Given the description of an element on the screen output the (x, y) to click on. 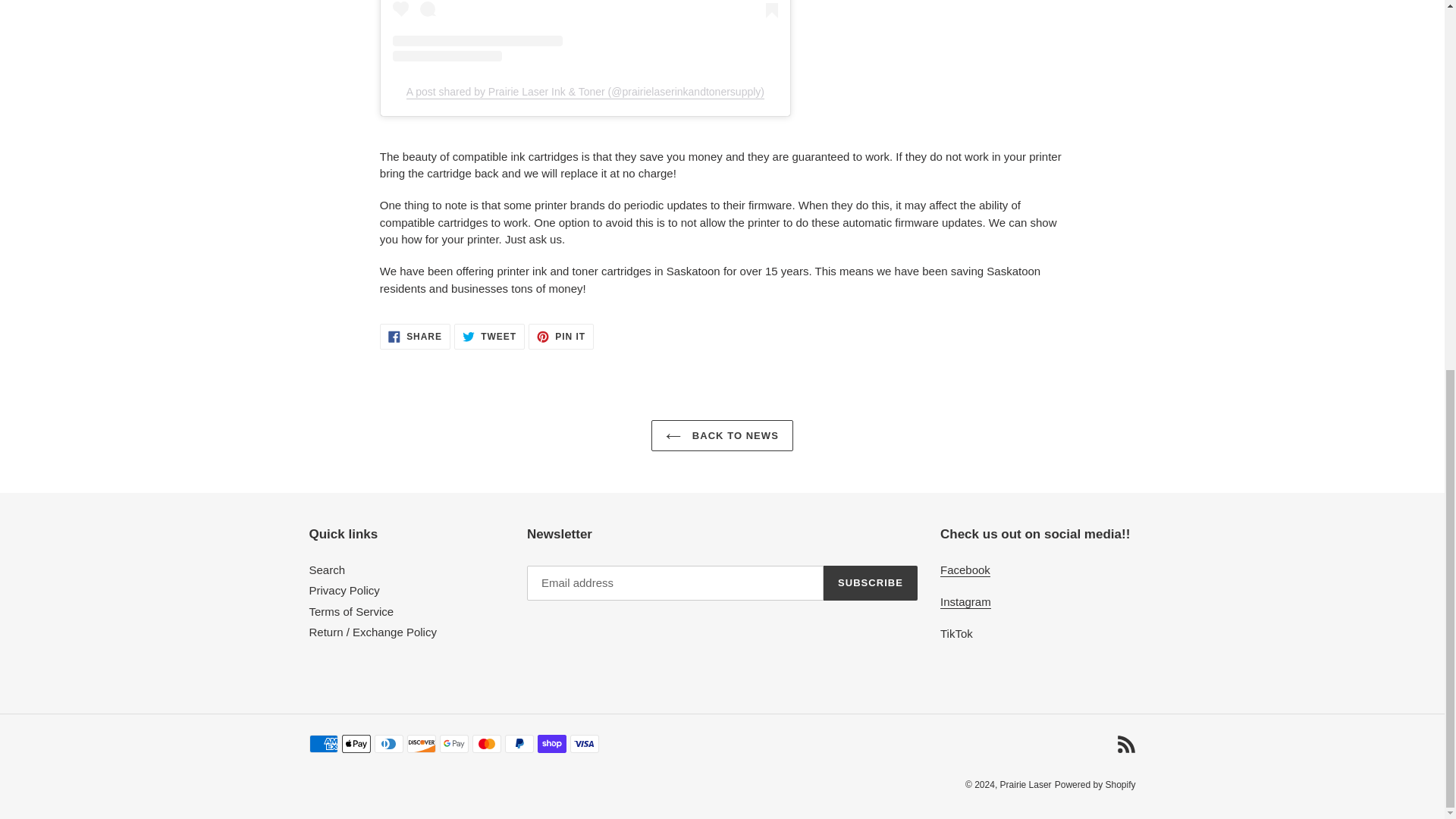
Terms of Service (351, 611)
SUBSCRIBE (870, 582)
Powered by Shopify (1094, 784)
Facebook (965, 570)
Instagram (965, 602)
Privacy Policy (489, 336)
RSS (344, 590)
Search (1125, 743)
Prairie Laser (327, 569)
View this post on Instagram (1025, 784)
Facebook (561, 336)
BACK TO NEWS (585, 30)
